Given the description of an element on the screen output the (x, y) to click on. 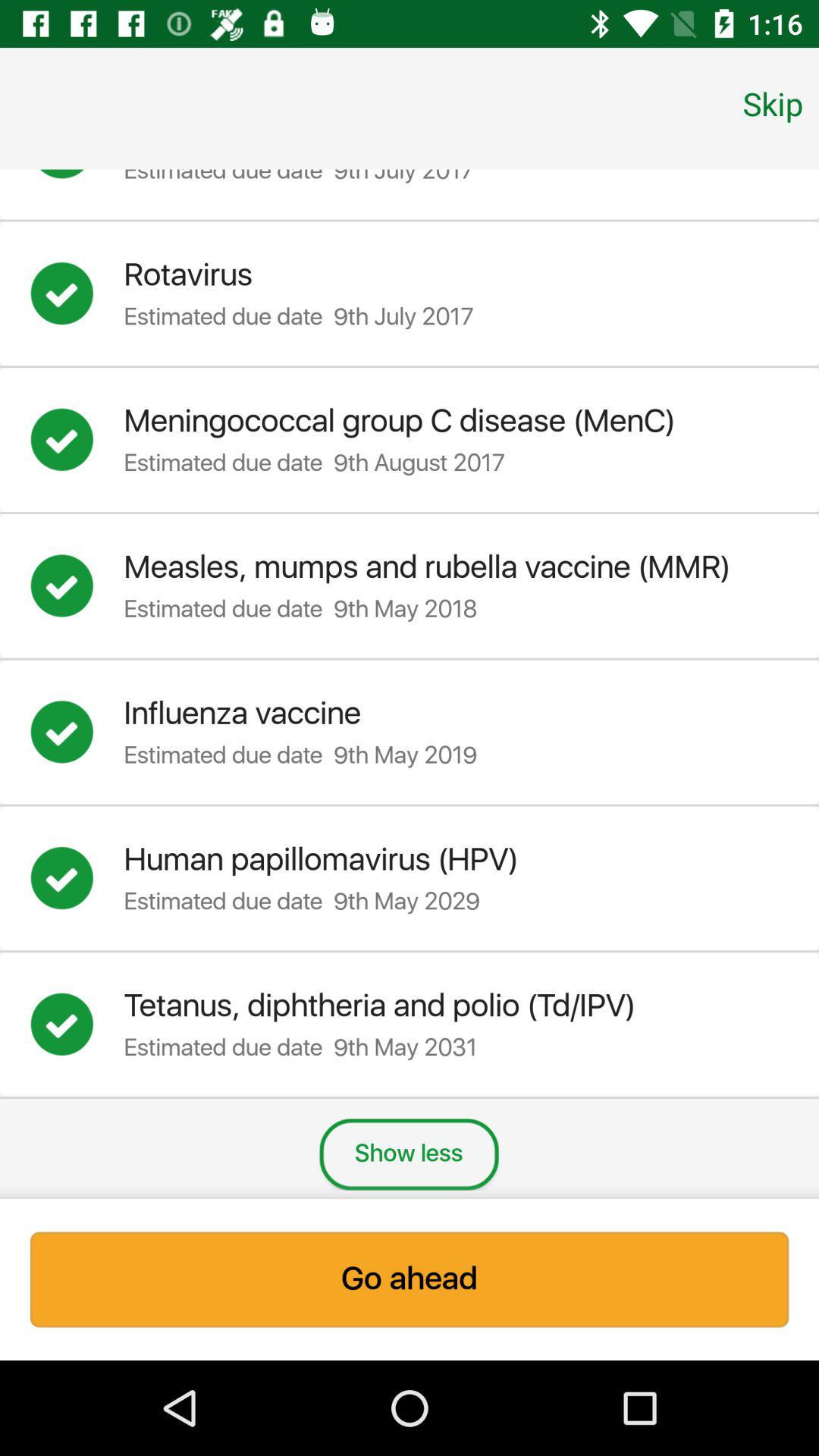
toggle checkmark button (76, 585)
